Given the description of an element on the screen output the (x, y) to click on. 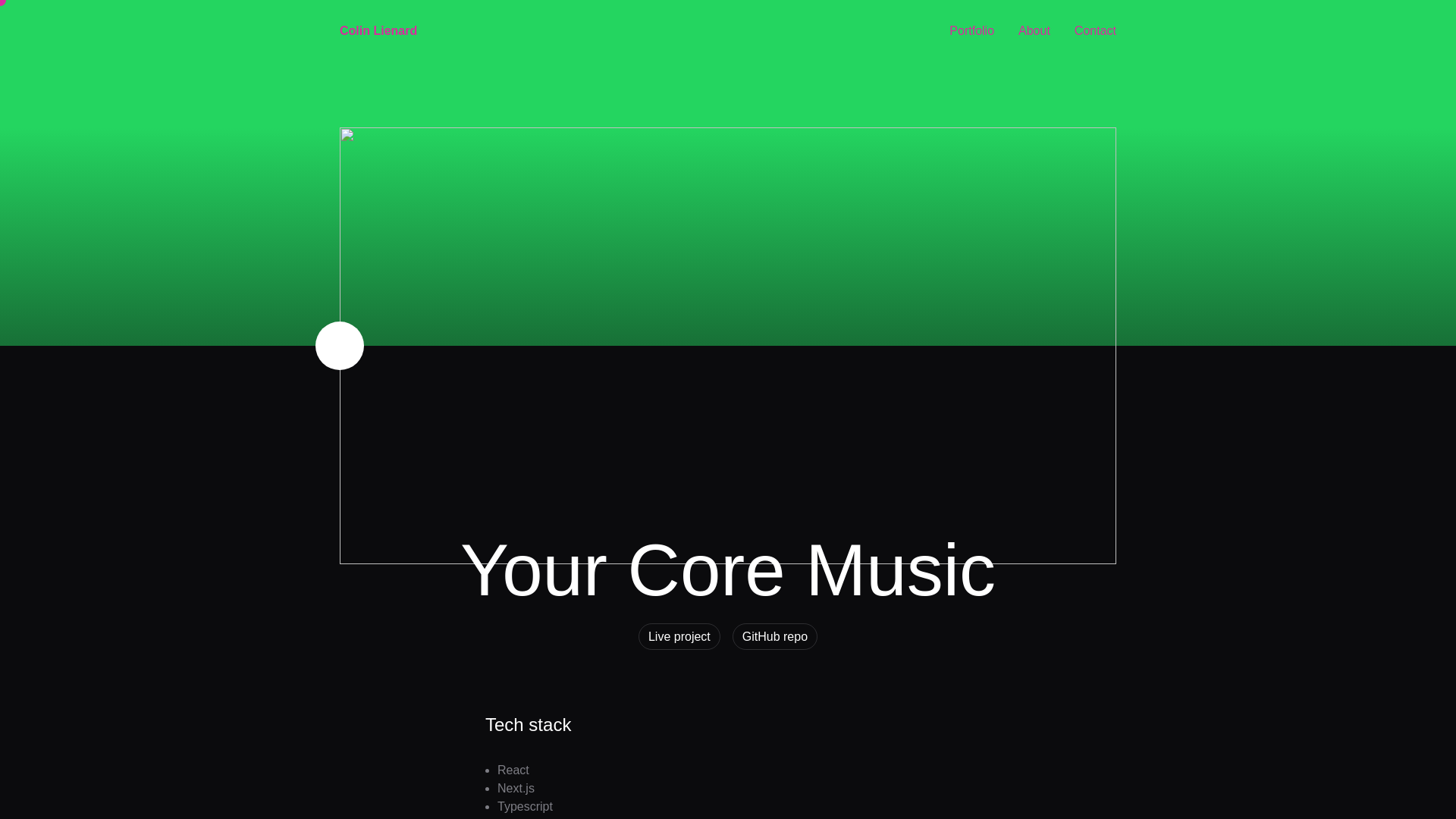
Live project (679, 636)
Tech stack (527, 724)
GitHub repo (774, 636)
